Given the description of an element on the screen output the (x, y) to click on. 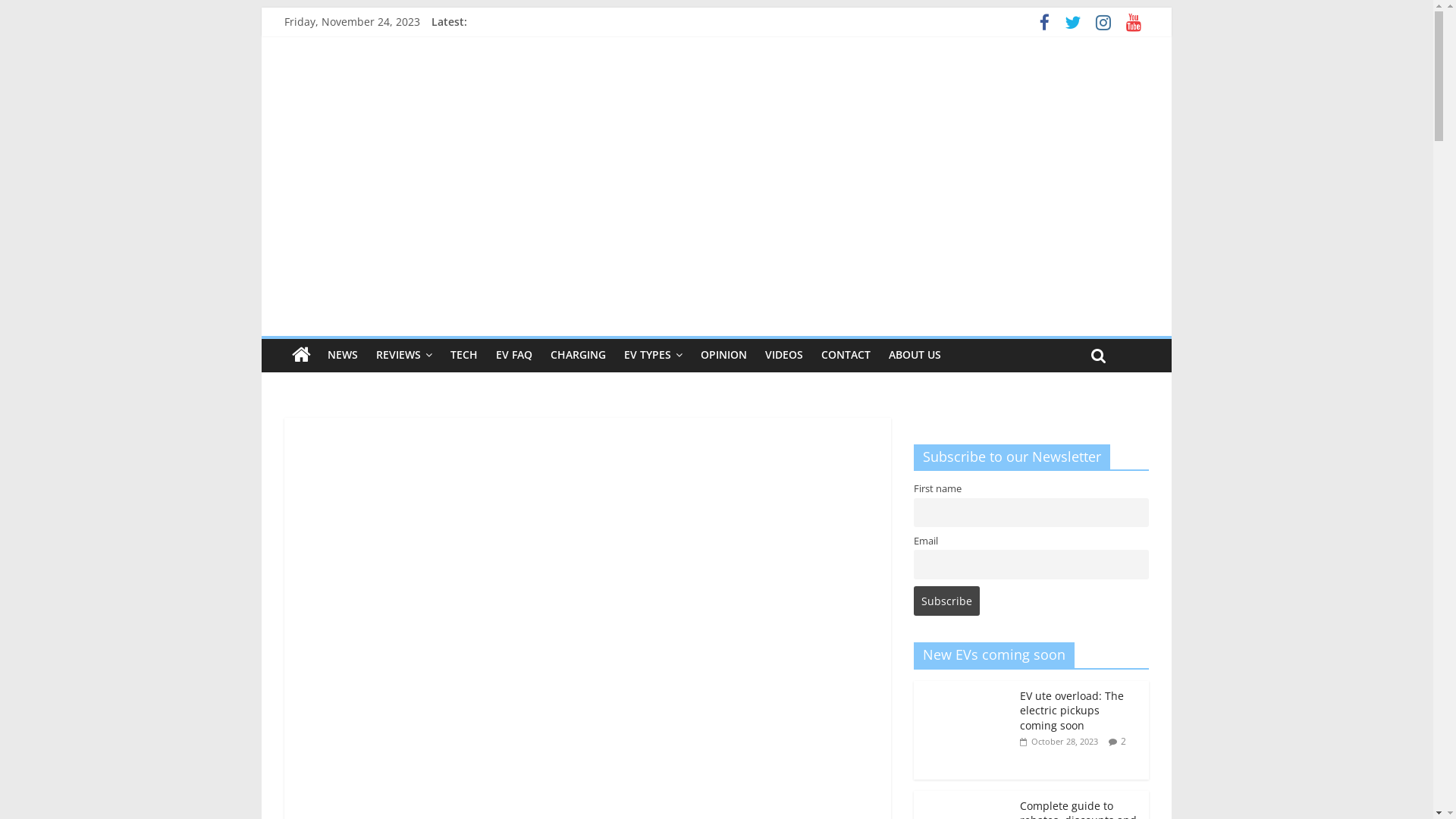
Subscribe Element type: text (946, 600)
EV ute overload: The electric pickups coming soon Element type: hover (962, 688)
EV TYPES Element type: text (653, 354)
EV Central Element type: hover (301, 354)
ABOUT US Element type: text (914, 354)
CHARGING Element type: text (578, 354)
REVIEWS Element type: text (404, 354)
CONTACT Element type: text (845, 354)
2 Element type: text (1123, 740)
October 28, 2023 Element type: text (1058, 740)
TECH Element type: text (463, 354)
EV ute overload: The electric pickups coming soon Element type: text (1071, 710)
OPINION Element type: text (723, 354)
EV FAQ Element type: text (513, 354)
NEWS Element type: text (342, 354)
VIDEOS Element type: text (784, 354)
